Given the description of an element on the screen output the (x, y) to click on. 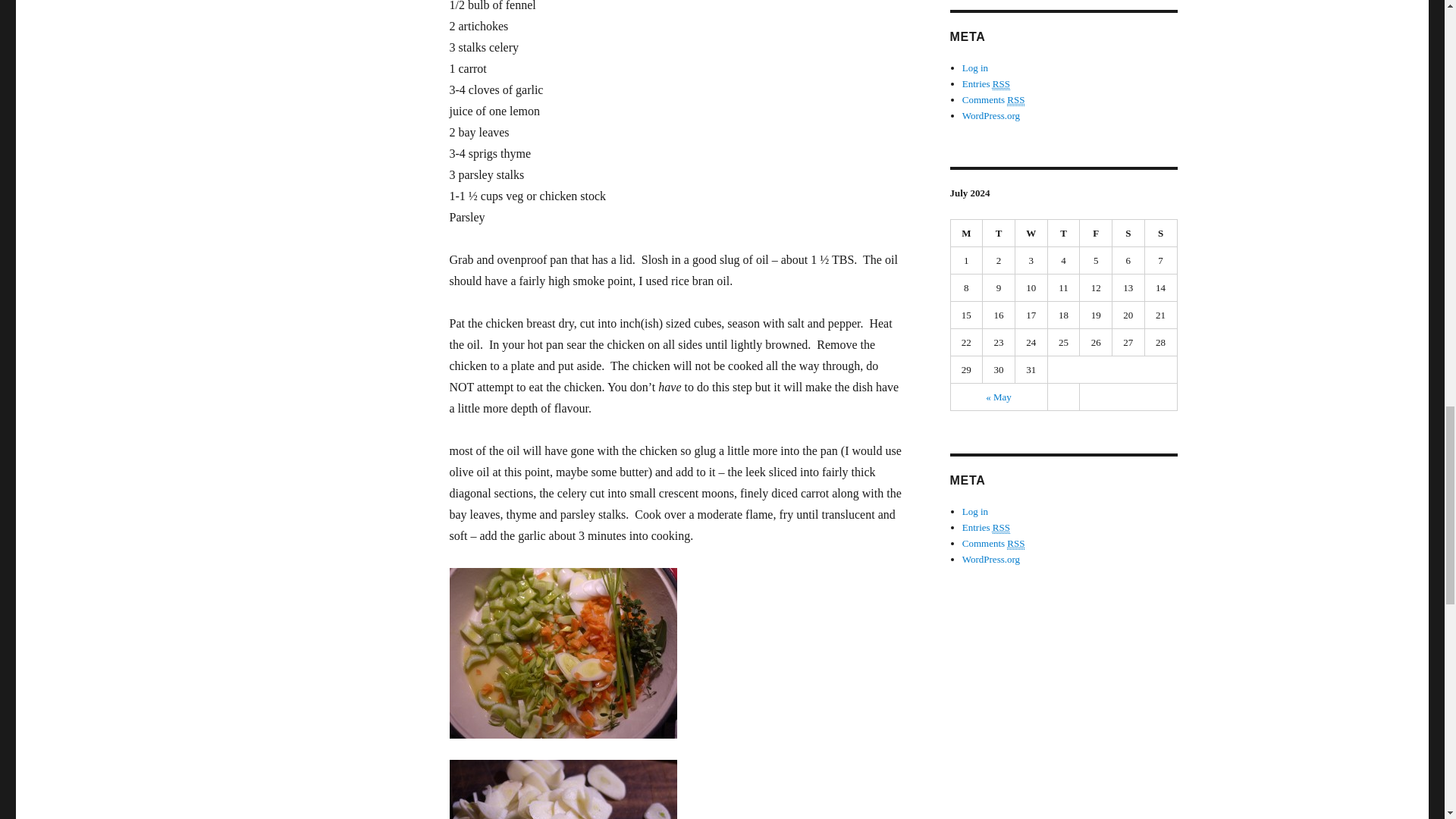
Wednesday (1031, 233)
Really Simple Syndication (1001, 83)
Sunday (1160, 233)
vegetables (562, 653)
Monday (967, 233)
Tuesday (998, 233)
Thursday (1064, 233)
Friday (1096, 233)
Saturday (1128, 233)
Really Simple Syndication (1016, 100)
Garlic (562, 789)
